Given the description of an element on the screen output the (x, y) to click on. 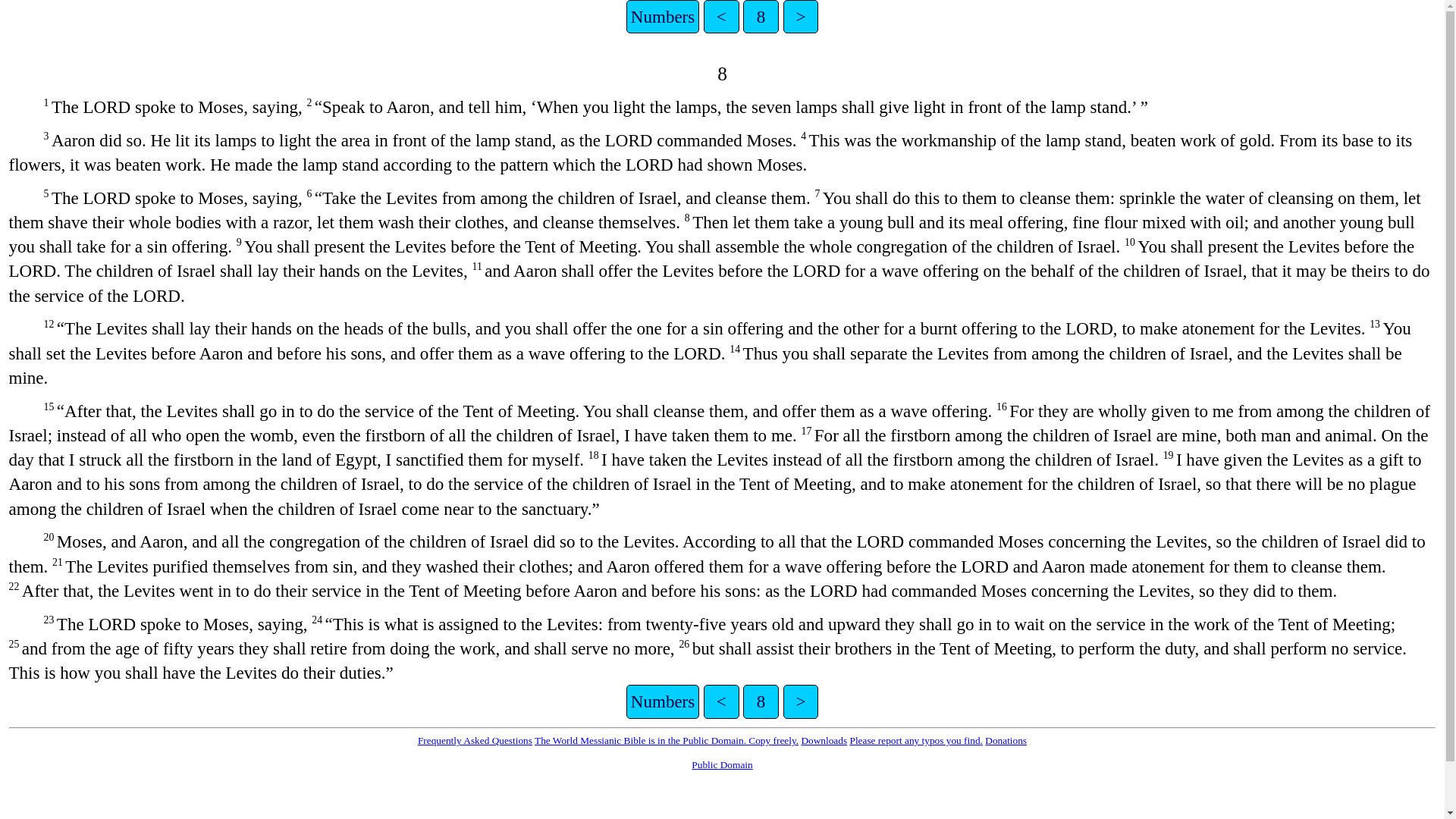
Frequently Asked Questions (474, 740)
Donations (1005, 740)
Please report any typos you find. (914, 740)
Public Domain (721, 764)
8 (760, 701)
Numbers (662, 701)
8 (760, 16)
Numbers (662, 16)
Downloads (823, 740)
